Given the description of an element on the screen output the (x, y) to click on. 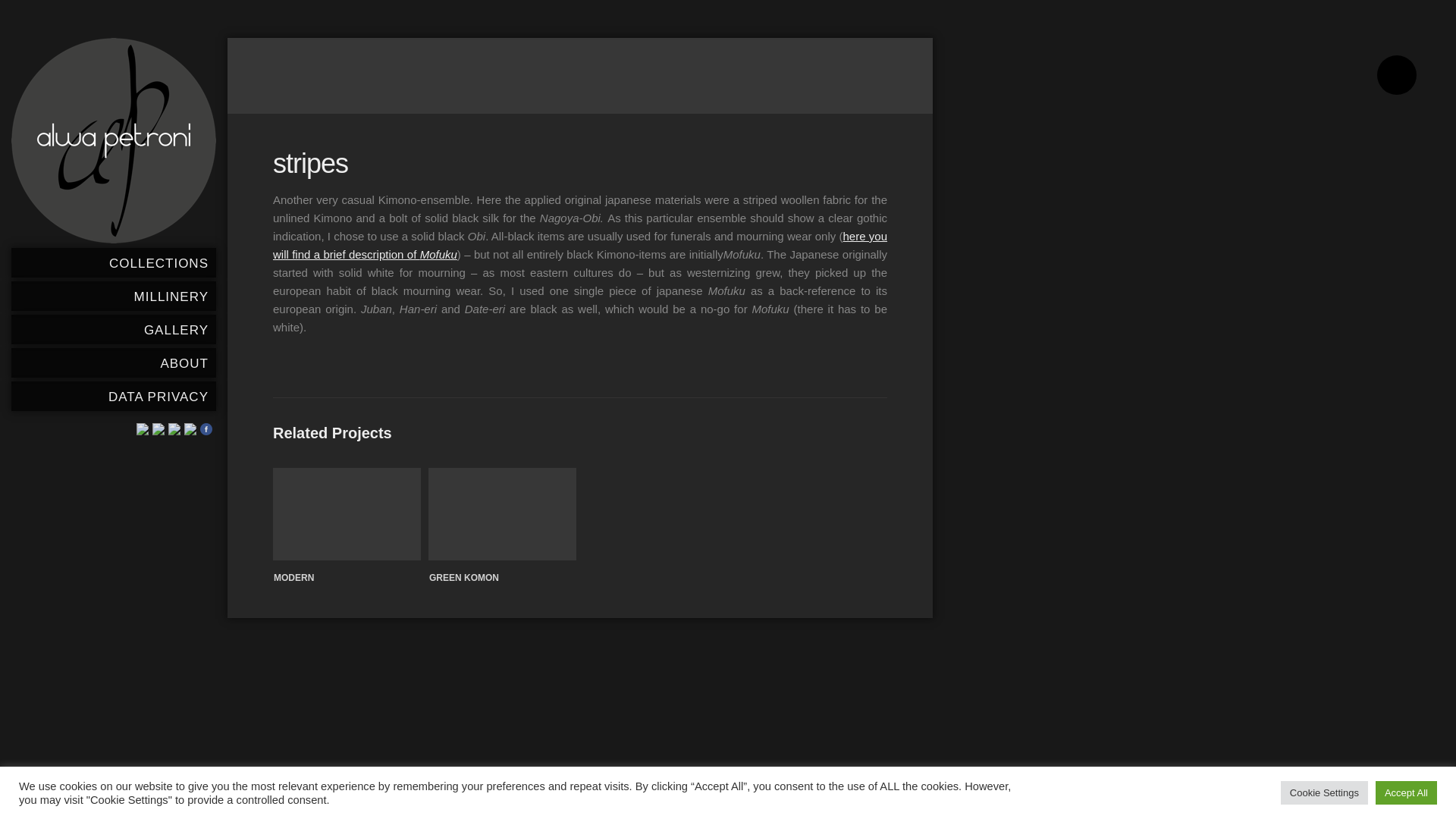
Green Komon (464, 578)
Modern (346, 513)
Modern (293, 578)
Green Komon (502, 513)
